Given the description of an element on the screen output the (x, y) to click on. 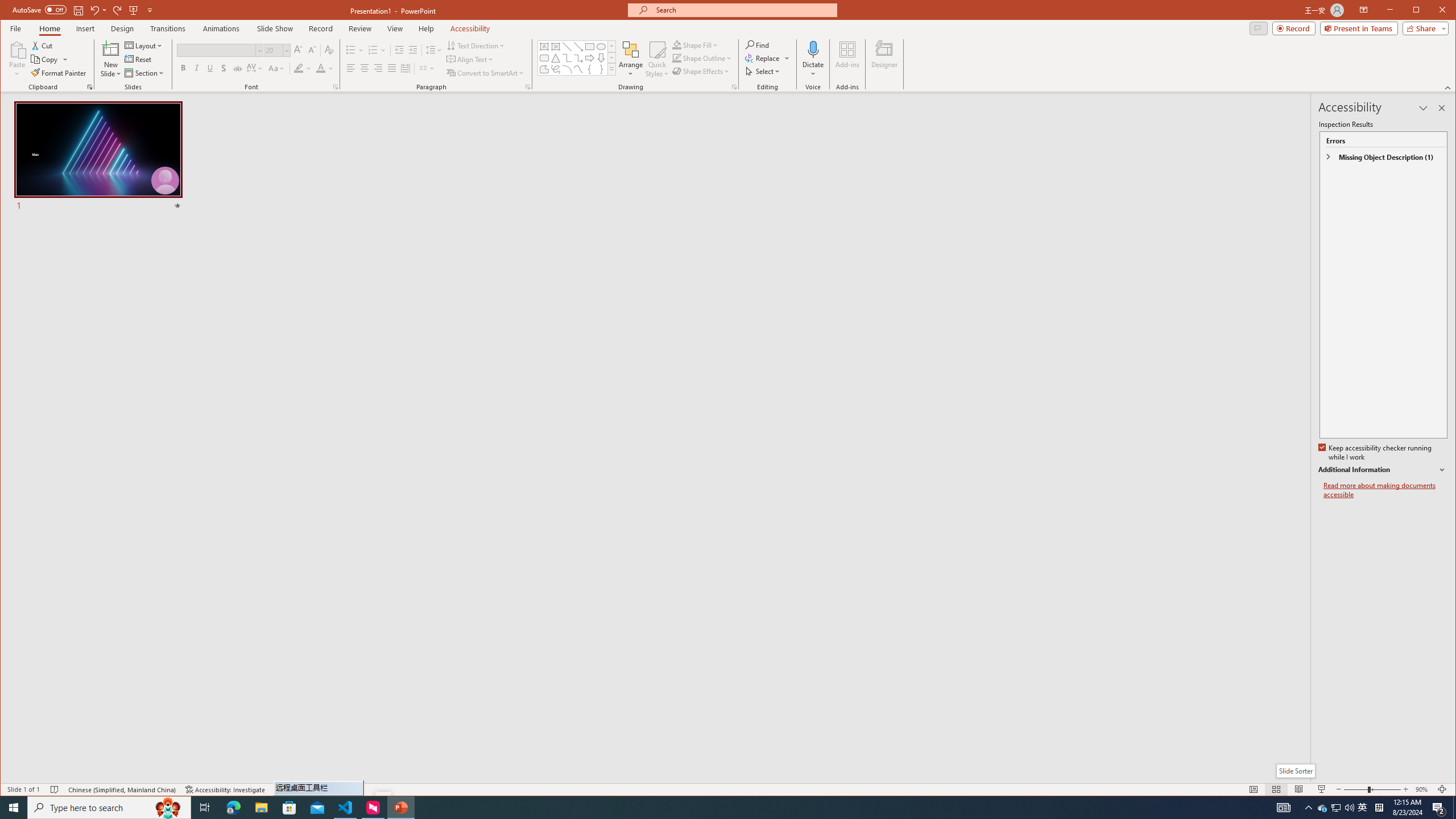
Freeform: Shape (544, 69)
Action Center, 2 new notifications (1439, 807)
Strikethrough (237, 68)
Arrange (631, 59)
Connector: Elbow (567, 57)
Change Case (276, 68)
Shapes (611, 69)
Running applications (700, 807)
